Given the description of an element on the screen output the (x, y) to click on. 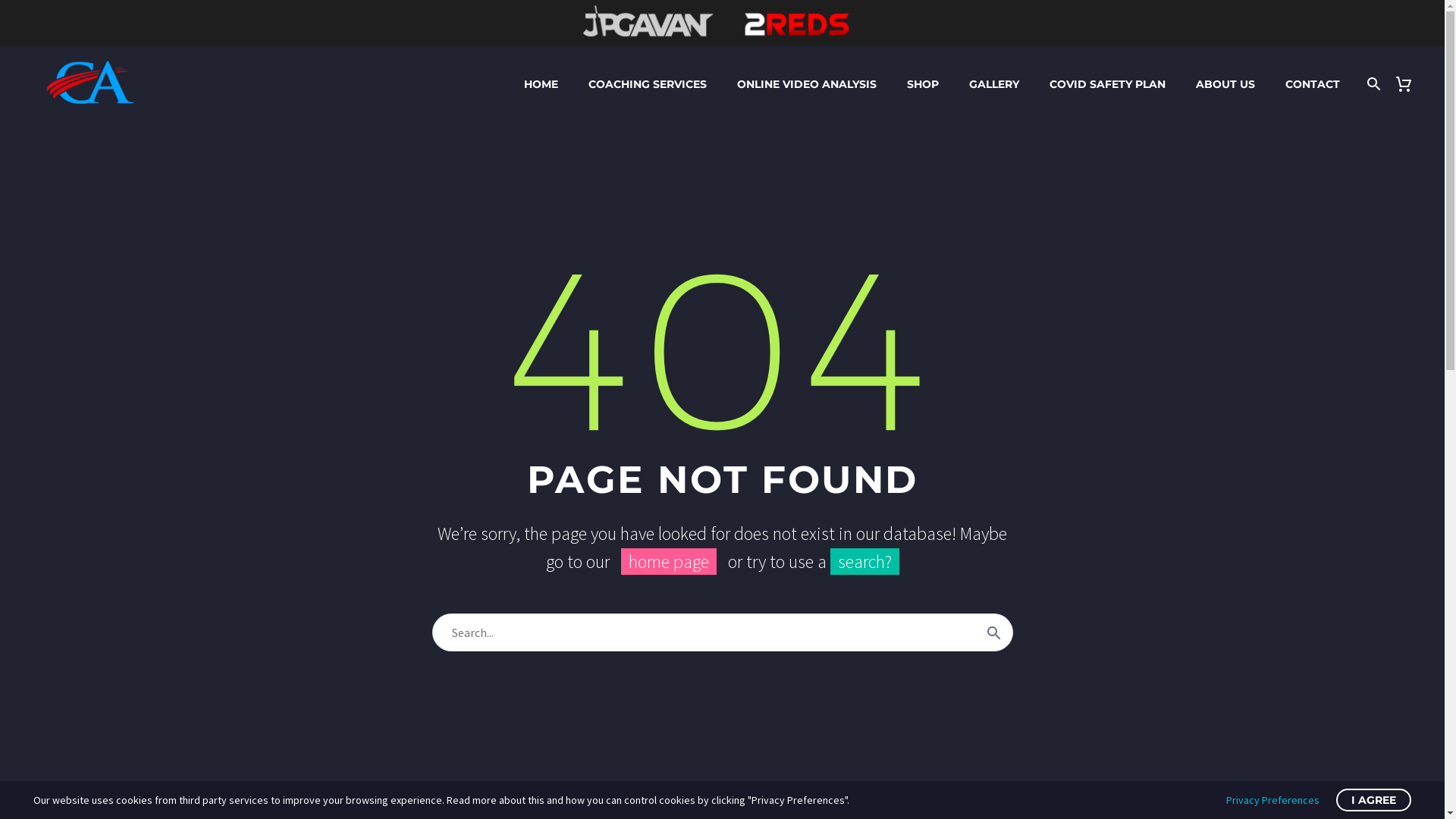
search? Element type: text (863, 561)
COVID SAFETY PLAN Element type: text (1107, 84)
SHOP Element type: text (922, 84)
ONLINE VIDEO ANALYSIS Element type: text (806, 84)
HOME Element type: text (540, 84)
Privacy Preferences Element type: text (1272, 799)
GALLERY Element type: text (993, 84)
COACHING SERVICES Element type: text (647, 84)
ABOUT US Element type: text (1225, 84)
home page Element type: text (667, 561)
CONTACT Element type: text (1312, 84)
I AGREE Element type: text (1373, 799)
